Given the description of an element on the screen output the (x, y) to click on. 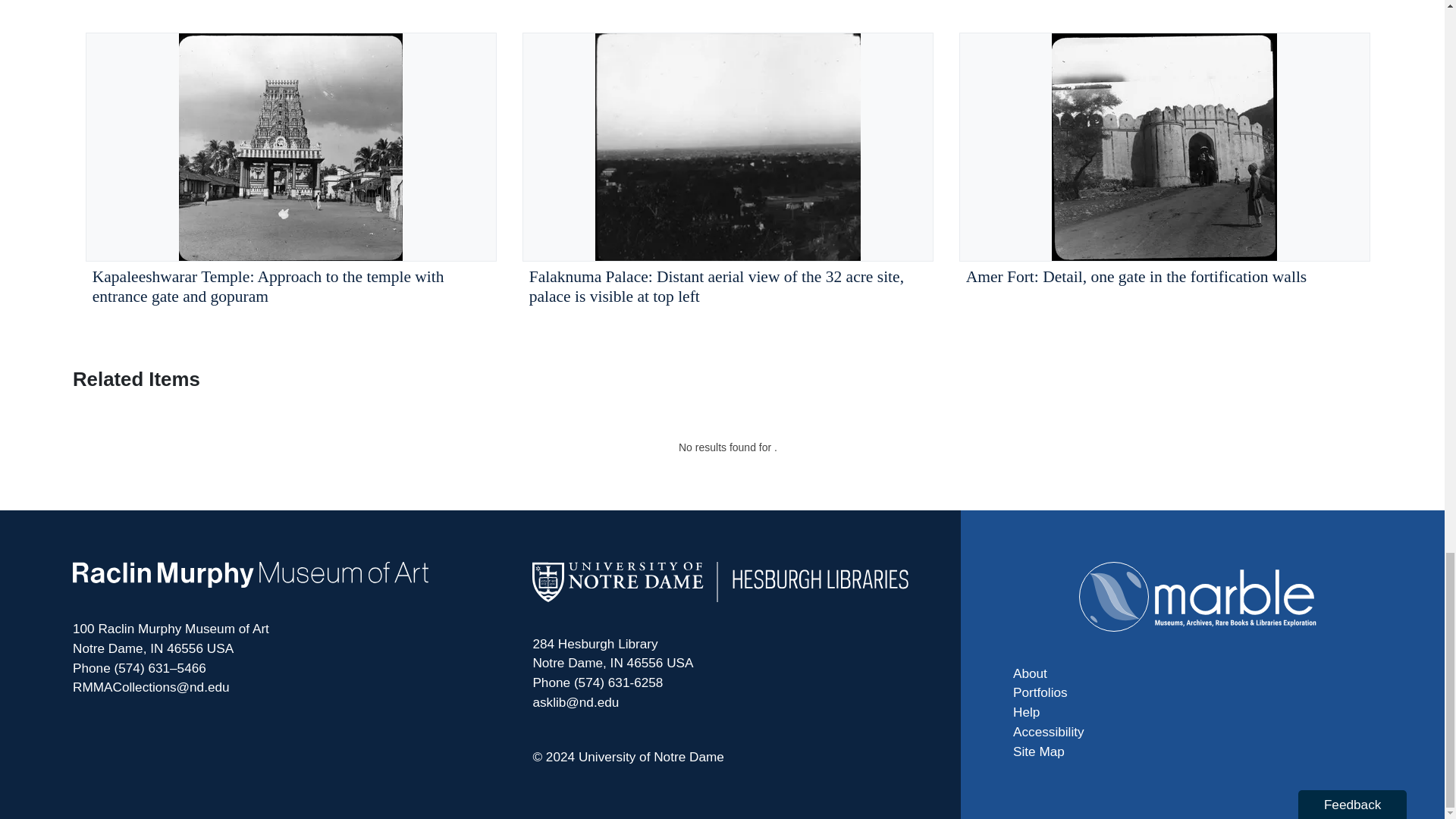
University of Notre Dame (650, 756)
Amer Fort: Detail, one gate in the fortification walls (1164, 172)
Site Map (1198, 752)
Portfolios (1198, 692)
